Given the description of an element on the screen output the (x, y) to click on. 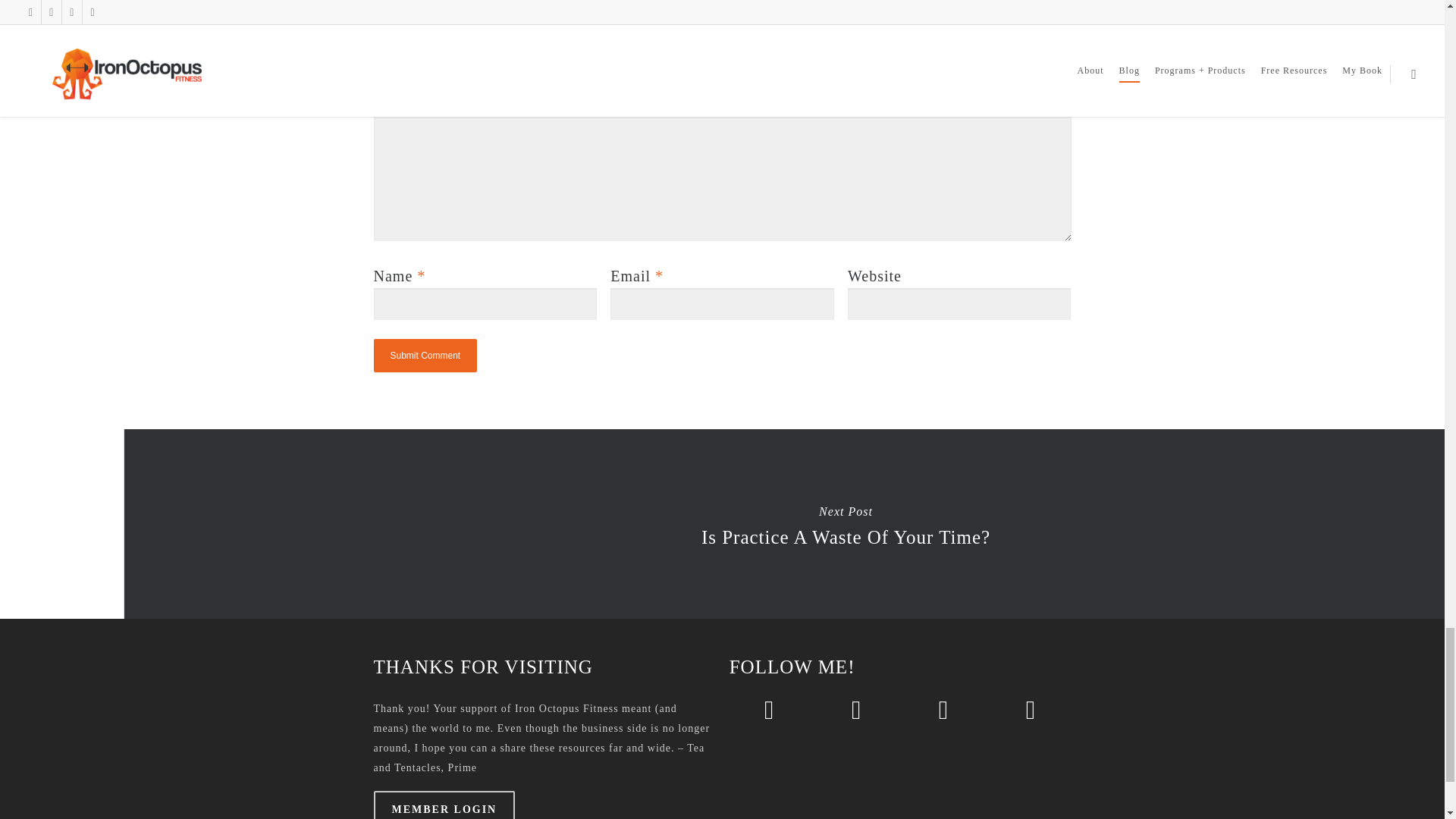
MEMBER LOGIN (443, 805)
Submit Comment (424, 355)
Submit Comment (424, 355)
